Given the description of an element on the screen output the (x, y) to click on. 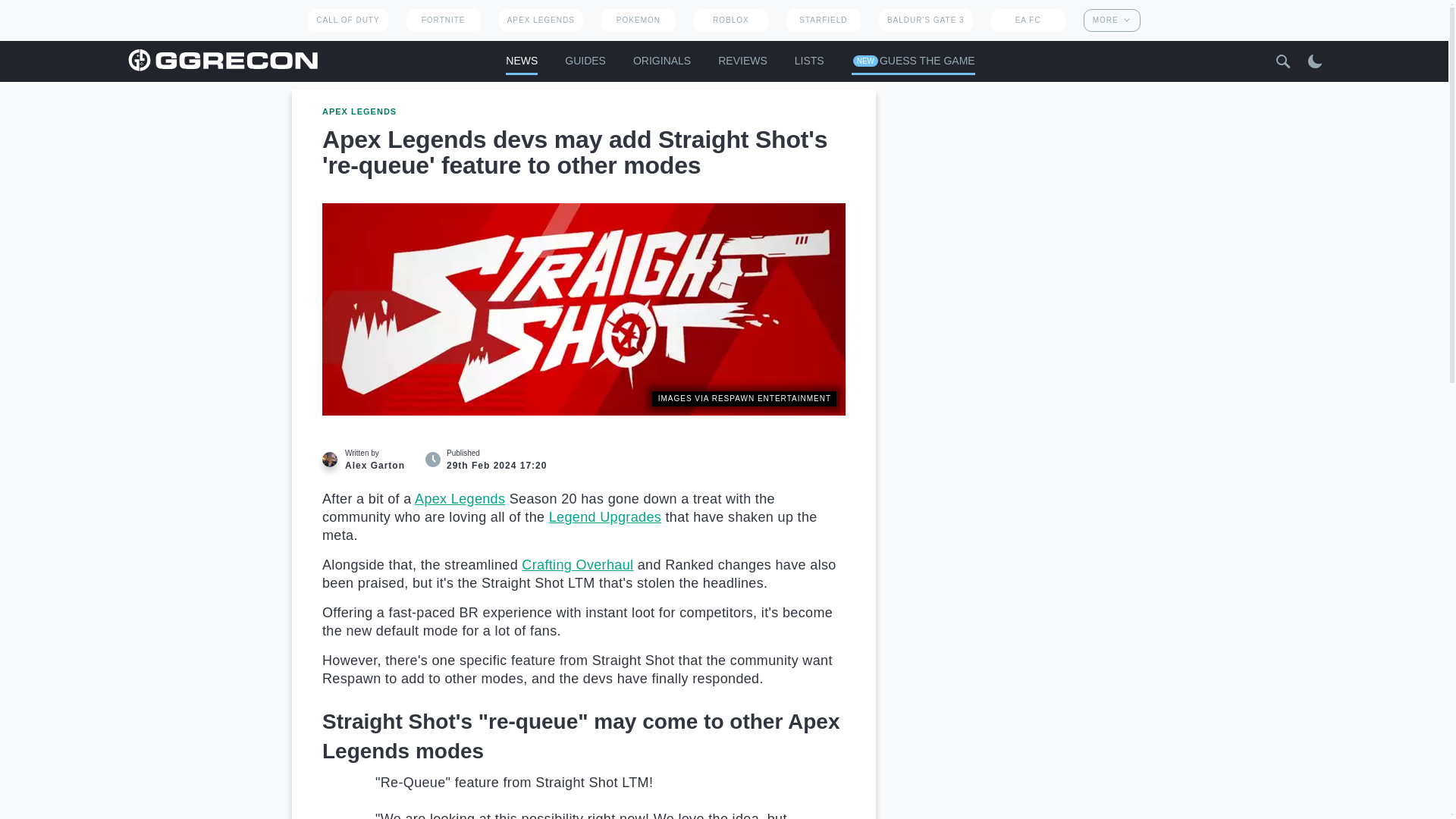
CALL OF DUTY (347, 20)
APEX LEGENDS (541, 20)
ROBLOX (731, 20)
BALDUR'S GATE 3 (925, 20)
Alex Garton (329, 459)
authorlink (369, 459)
MORE (1111, 20)
POKEMON (638, 20)
